Given the description of an element on the screen output the (x, y) to click on. 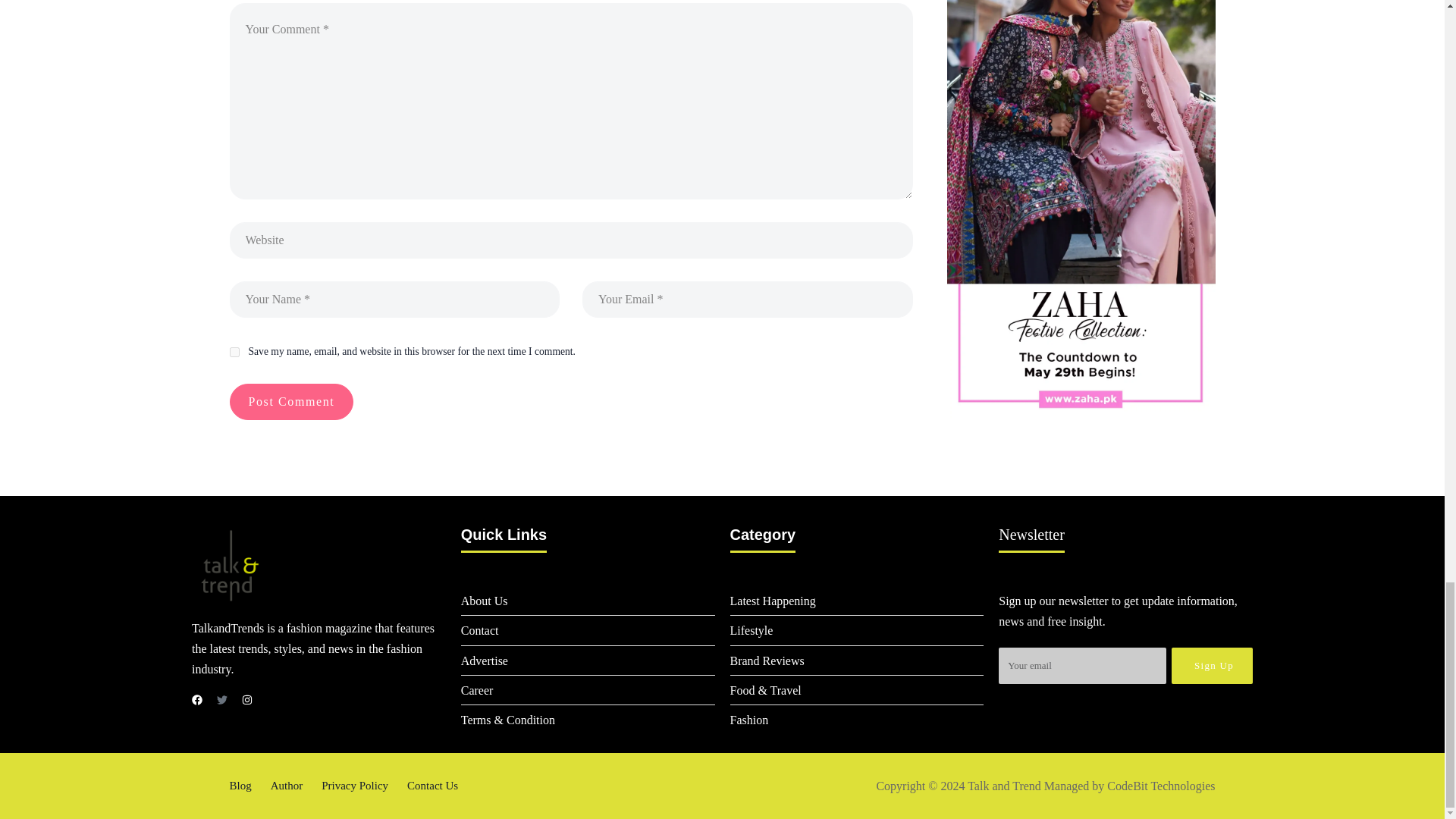
Post Comment (290, 402)
yes (233, 352)
